Given the description of an element on the screen output the (x, y) to click on. 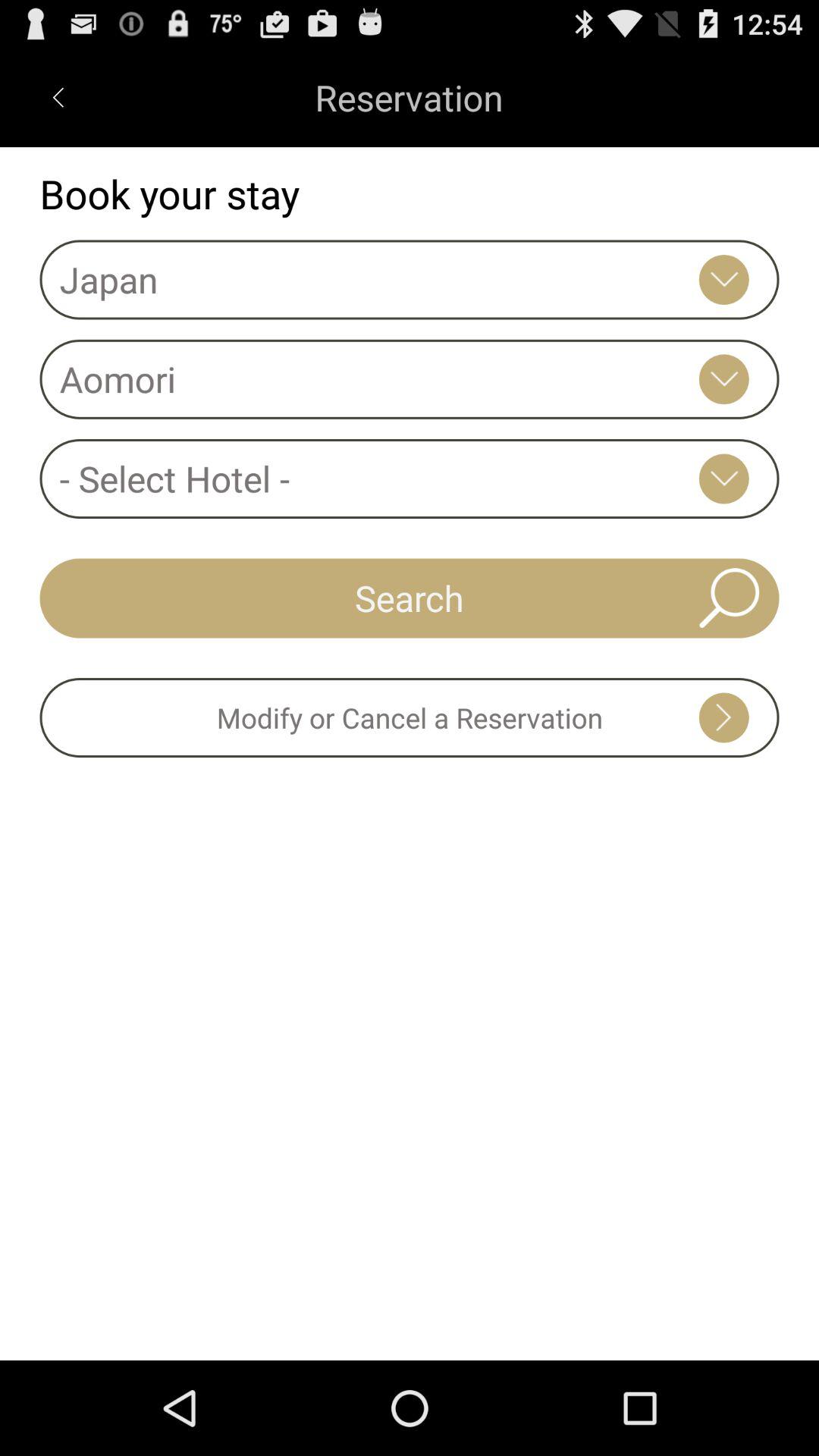
swipe until search icon (409, 598)
